Given the description of an element on the screen output the (x, y) to click on. 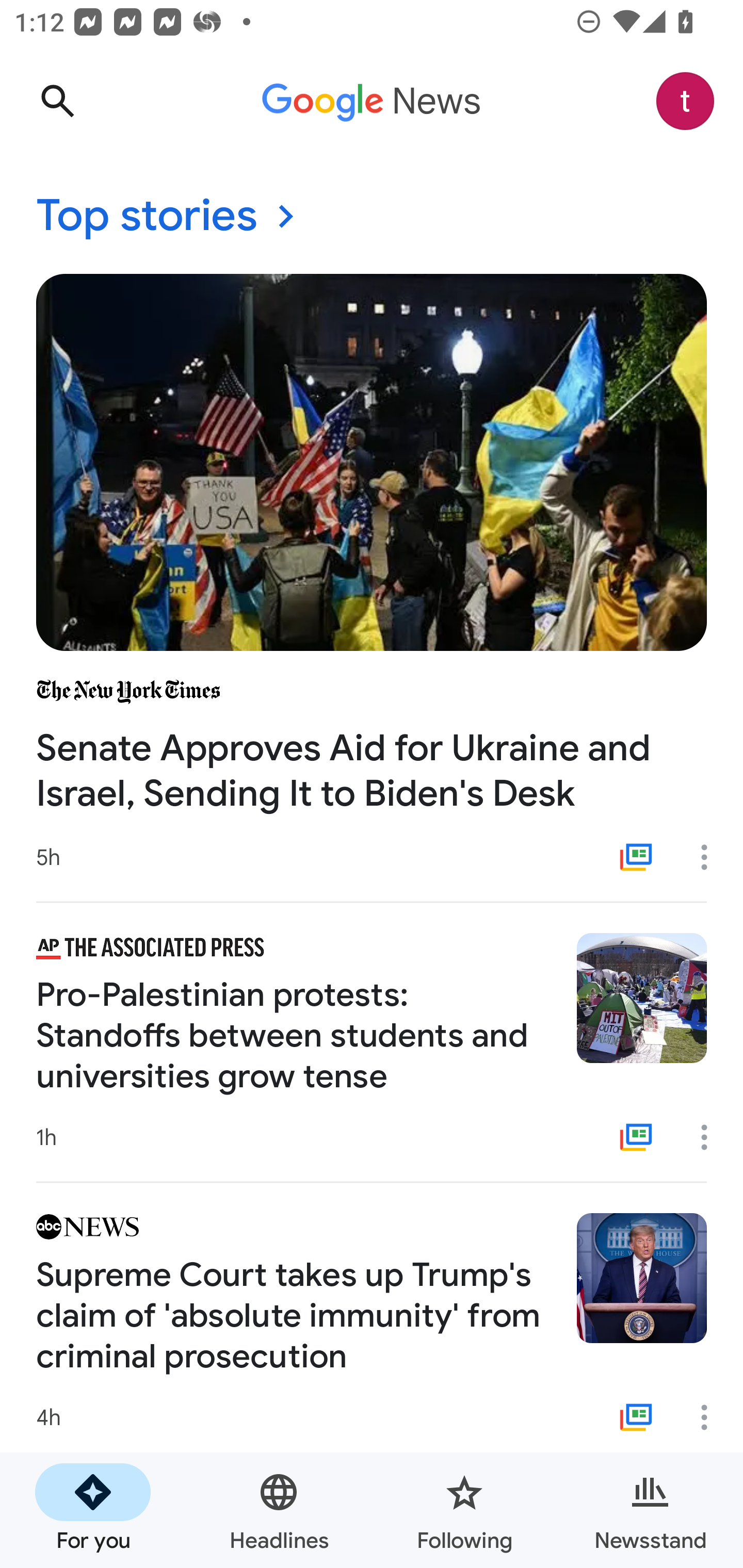
Search (57, 100)
Top stories (371, 216)
More options (711, 856)
More options (711, 1137)
More options (711, 1417)
For you (92, 1509)
Headlines (278, 1509)
Following (464, 1509)
Newsstand (650, 1509)
